Given the description of an element on the screen output the (x, y) to click on. 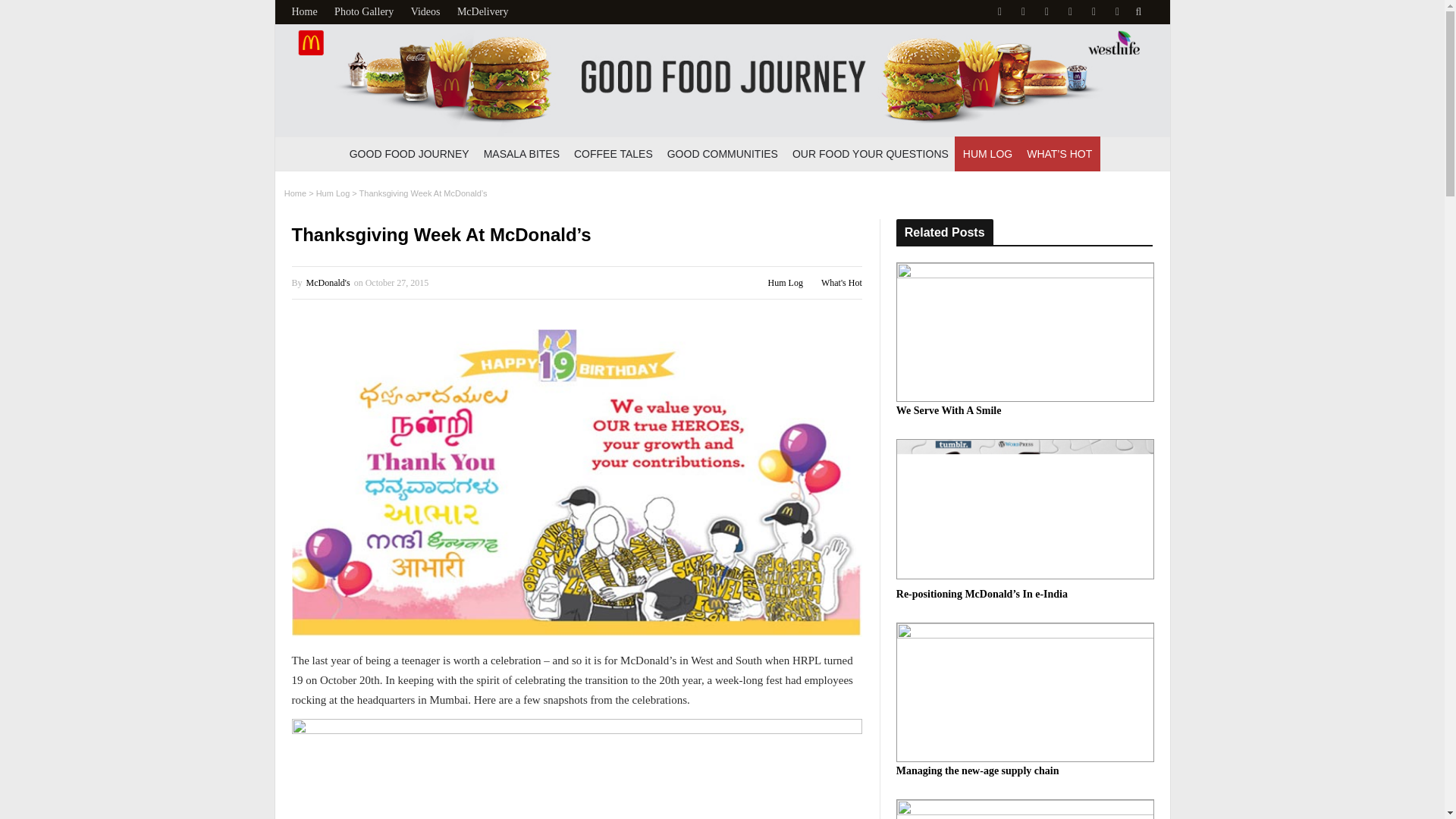
Facebook (998, 11)
Posts by McDonald's (327, 282)
Videos (425, 11)
Photo Gallery (363, 11)
Hum Log (332, 193)
COFFEE TALES (613, 153)
MASALA BITES (521, 153)
YouTube (1045, 11)
HUM LOG (987, 153)
LinkedIn (1117, 11)
LinkedIn (1117, 11)
Facebook (998, 11)
Home (294, 193)
pinterest (1093, 11)
